Given the description of an element on the screen output the (x, y) to click on. 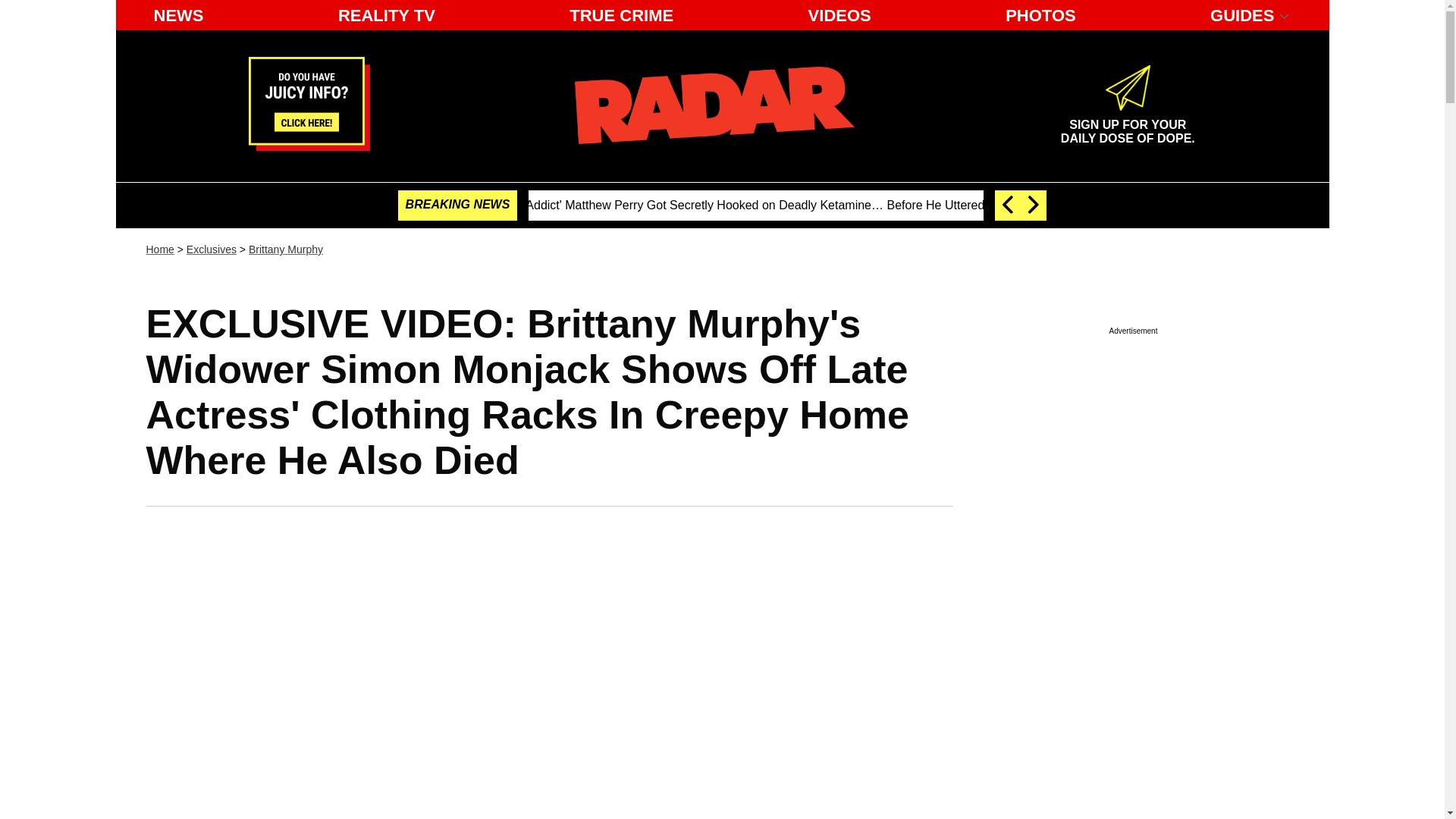
VIDEOS (839, 15)
PHOTOS (1040, 15)
Brittany Murphy (1127, 124)
Radar Online (285, 249)
Sign up for your daily dose of dope. (714, 105)
TRUE CRIME (1127, 124)
Exclusives (621, 15)
REALITY TV (210, 249)
Home (386, 15)
